Given the description of an element on the screen output the (x, y) to click on. 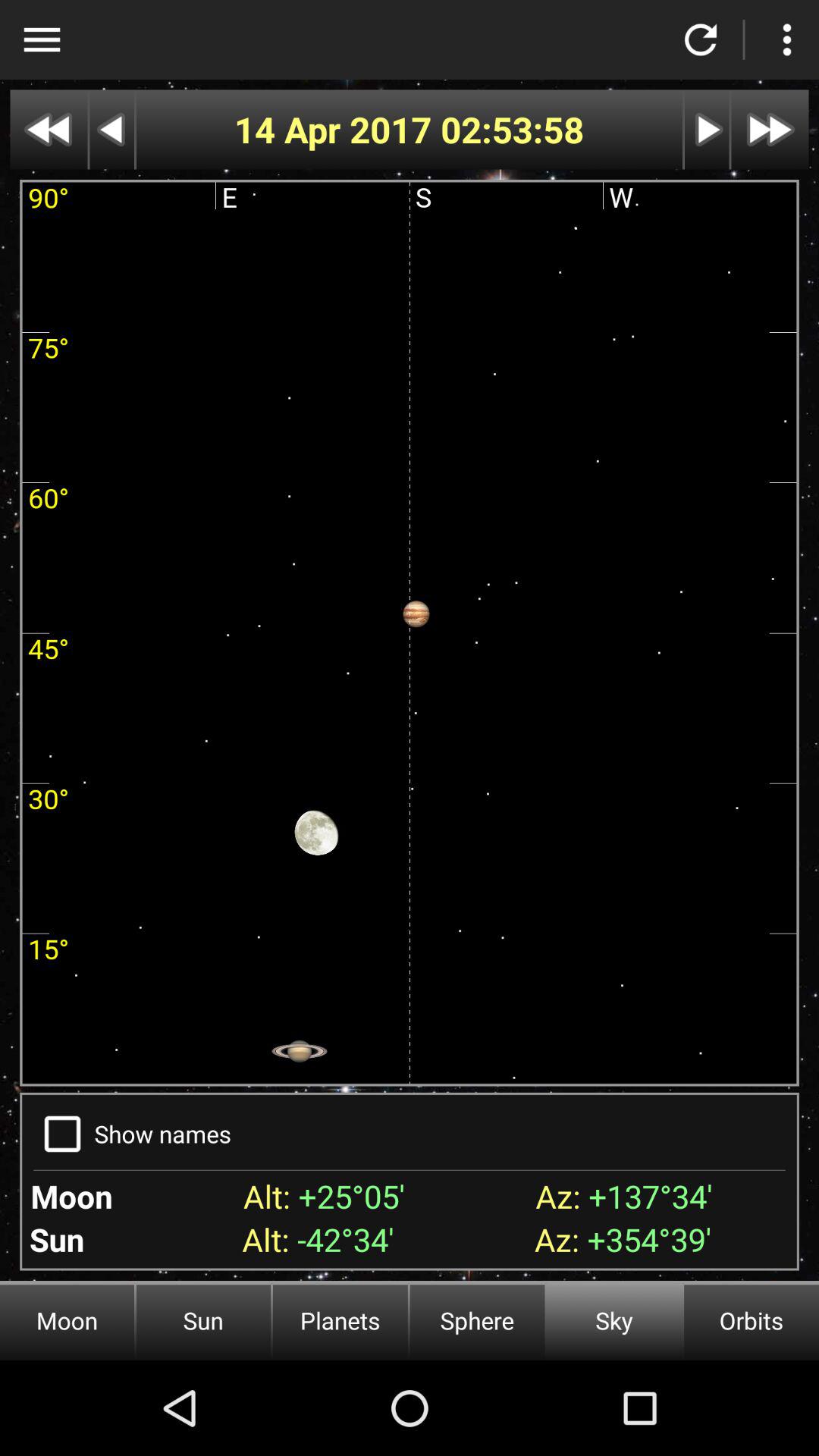
go to back (48, 129)
